Given the description of an element on the screen output the (x, y) to click on. 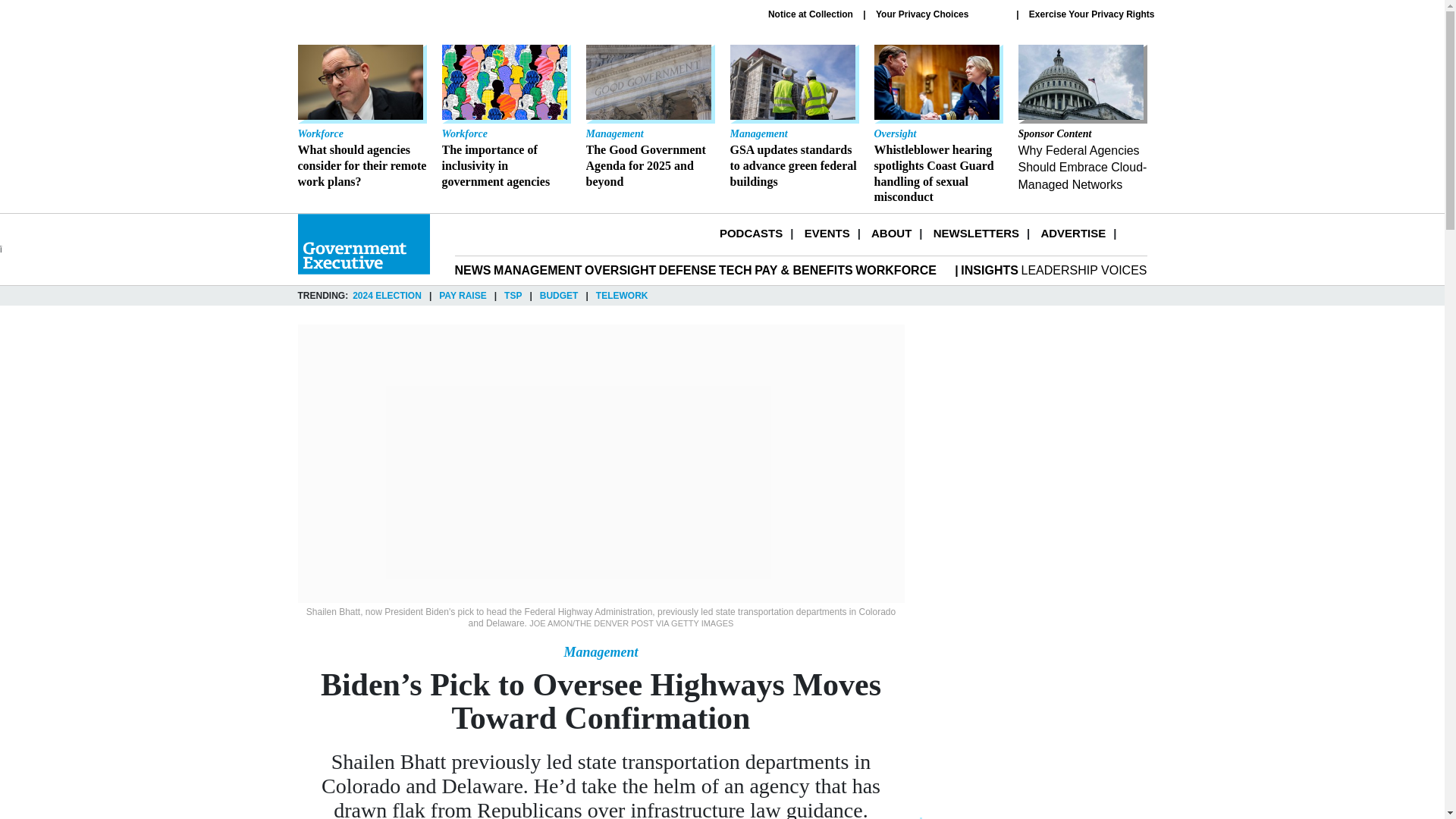
PODCASTS (751, 232)
ABOUT (890, 232)
NEWSLETTERS (976, 232)
Exercise Your Privacy Rights (1091, 14)
ADVERTISE (1073, 232)
Notice at Collection (810, 14)
Your Privacy Choices (941, 14)
EVENTS (827, 232)
